Given the description of an element on the screen output the (x, y) to click on. 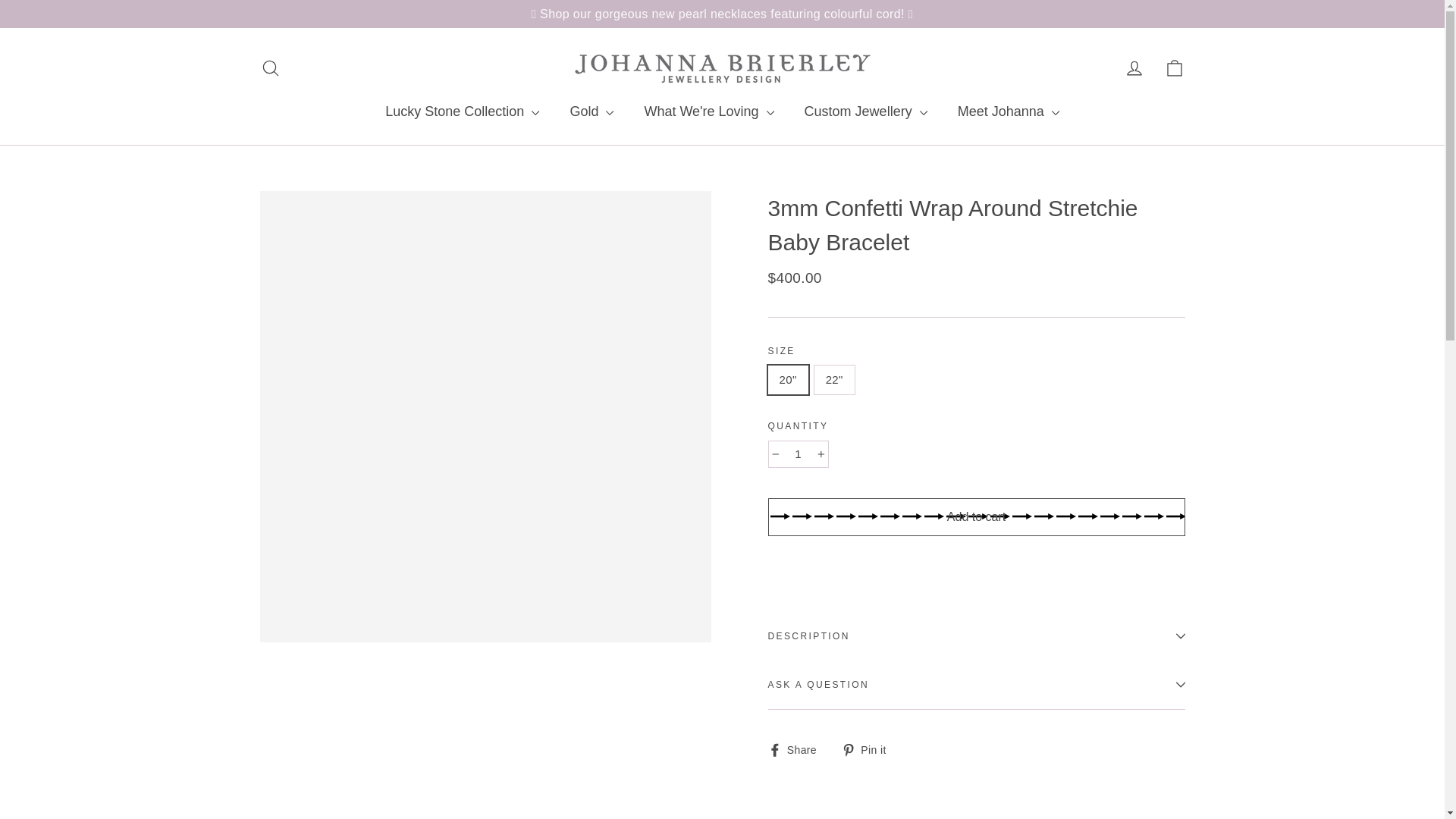
1 (797, 453)
Share on Facebook (797, 749)
Pin on Pinterest (869, 749)
